Given the description of an element on the screen output the (x, y) to click on. 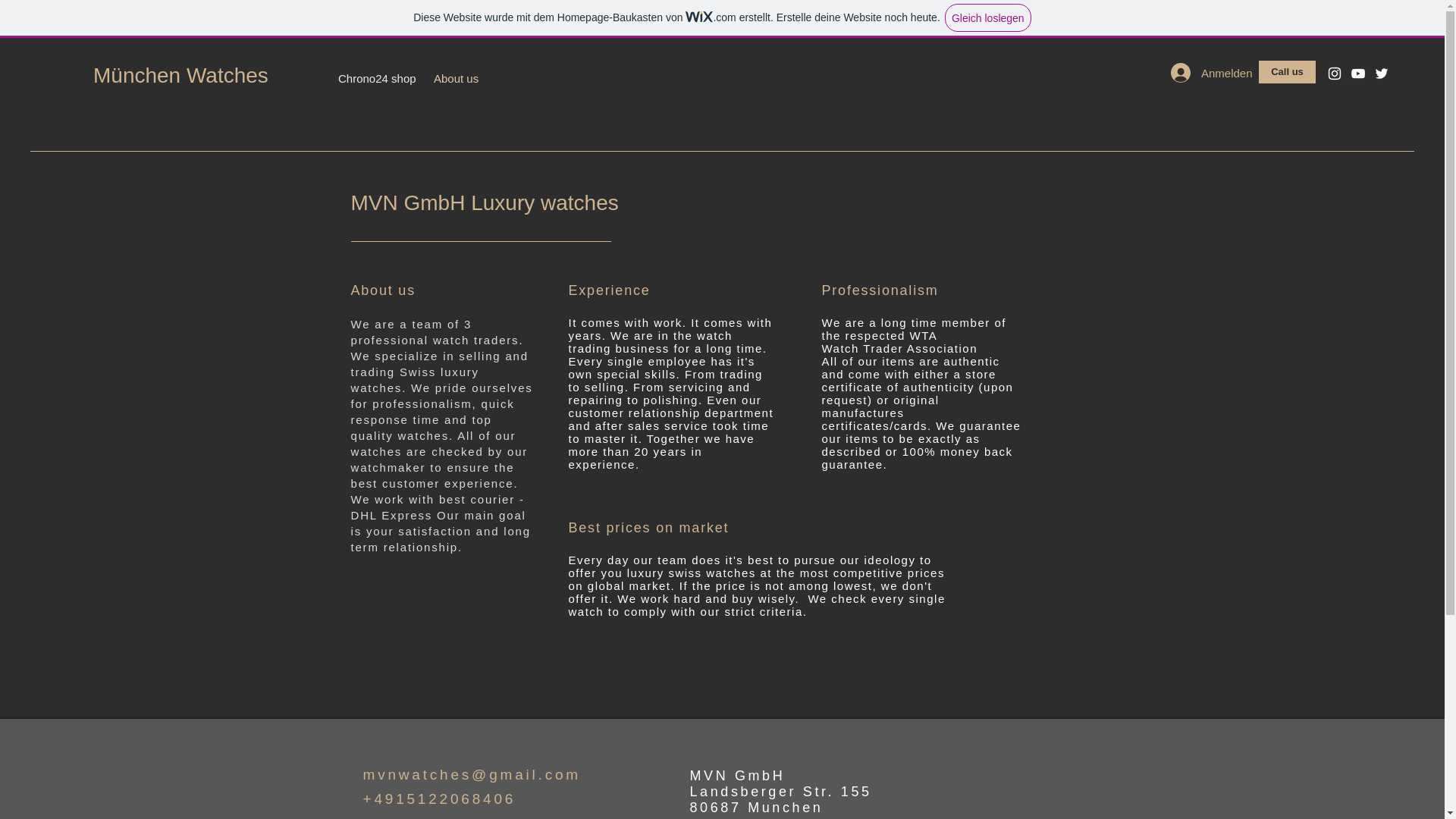
Anmelden (1205, 72)
About us (454, 78)
Call us (1287, 71)
Chrono24 shop (374, 78)
